Given the description of an element on the screen output the (x, y) to click on. 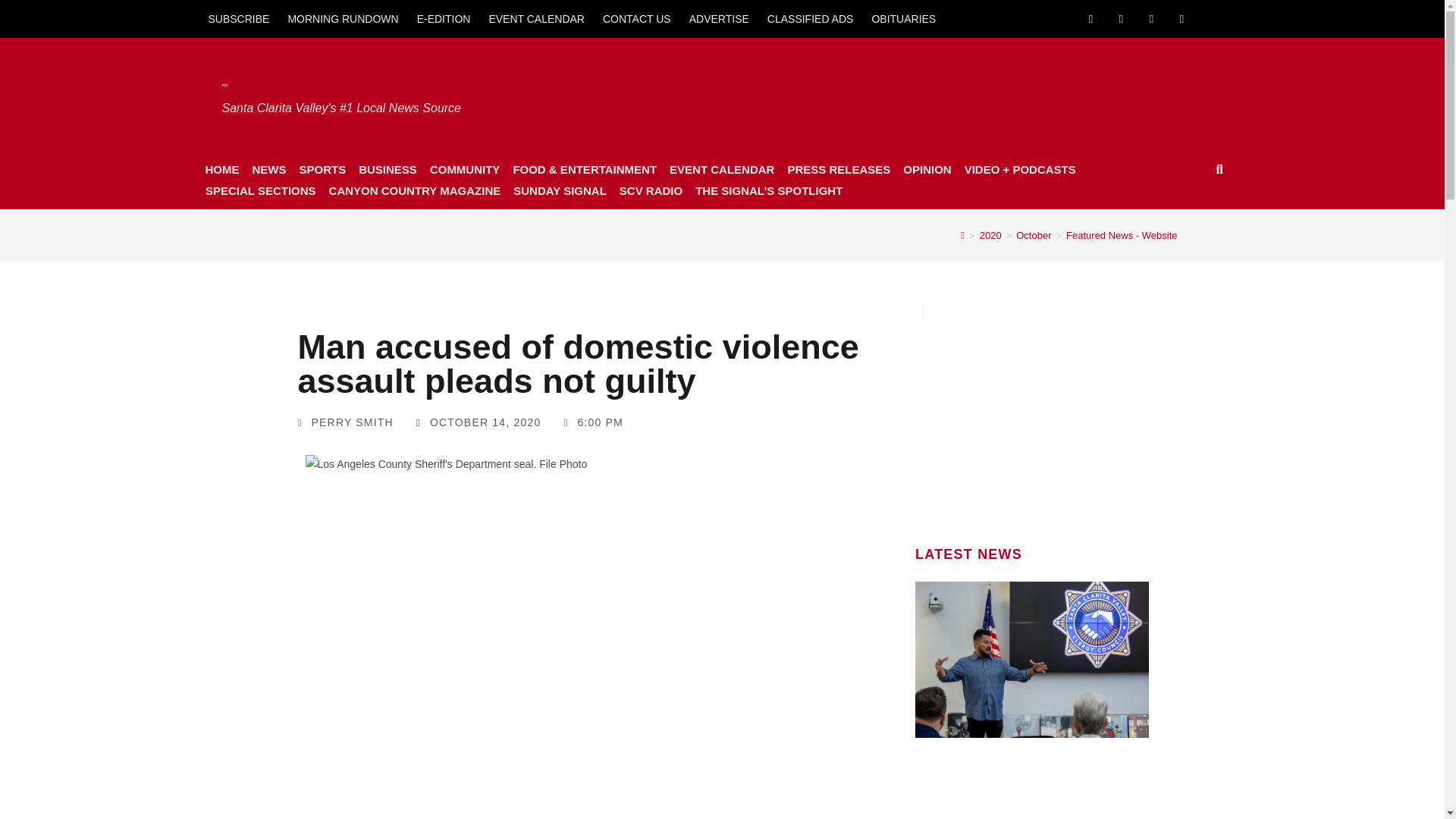
E-EDITION (443, 18)
SUBSCRIBE (238, 18)
CONTACT US (636, 18)
3rd party ad content (932, 94)
3rd party ad content (1031, 416)
SPORTS (322, 169)
NEWS (269, 169)
ADVERTISE (718, 18)
HOME (221, 169)
CLASSIFIED ADS (810, 18)
